Given the description of an element on the screen output the (x, y) to click on. 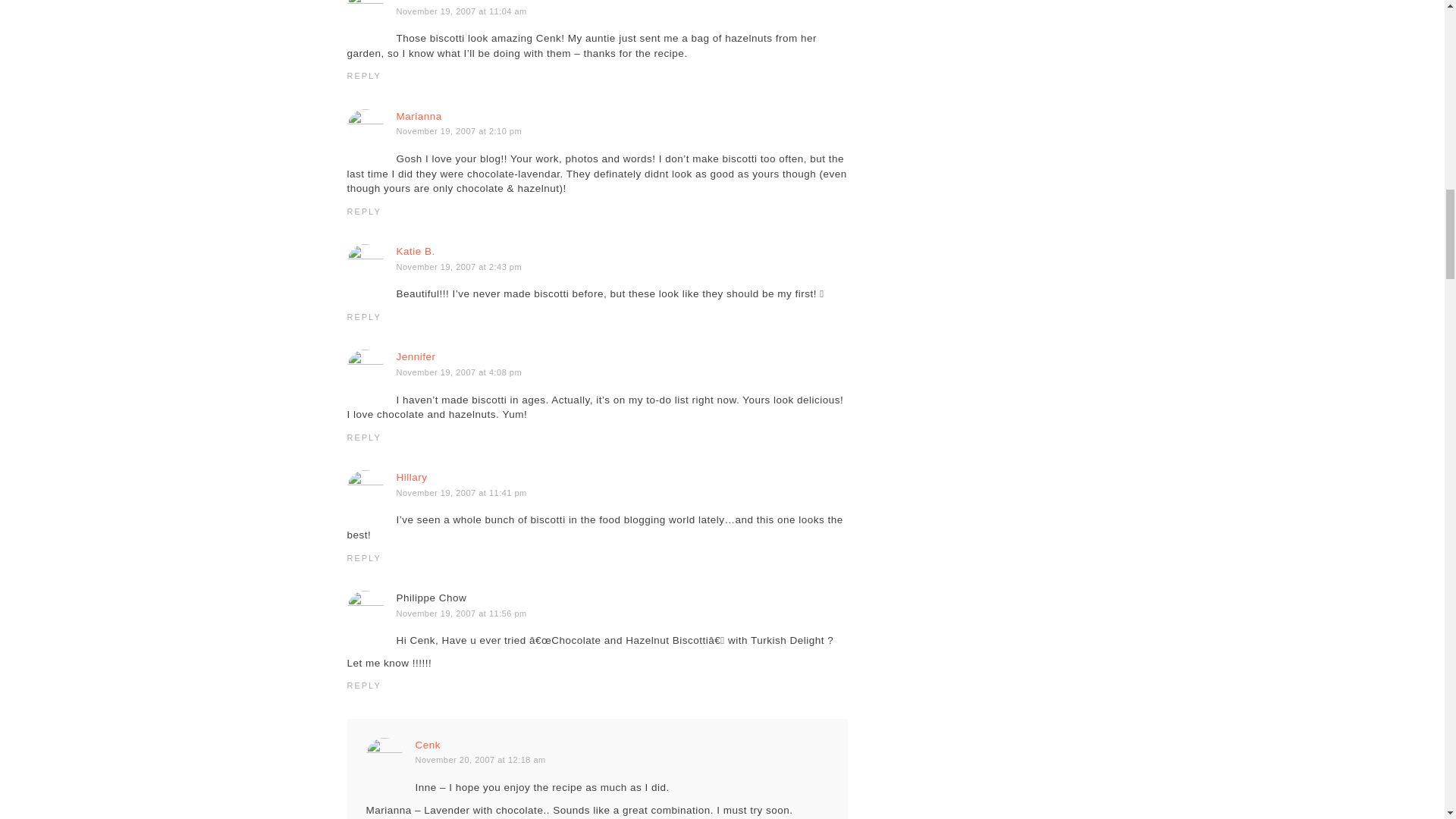
REPLY (364, 437)
November 19, 2007 at 4:08 pm (458, 371)
November 19, 2007 at 11:41 pm (460, 492)
REPLY (364, 75)
November 19, 2007 at 11:04 am (460, 10)
November 19, 2007 at 2:43 pm (458, 266)
Marianna (418, 116)
Hillary (411, 477)
Cenk (427, 745)
Inne (406, 0)
